Given the description of an element on the screen output the (x, y) to click on. 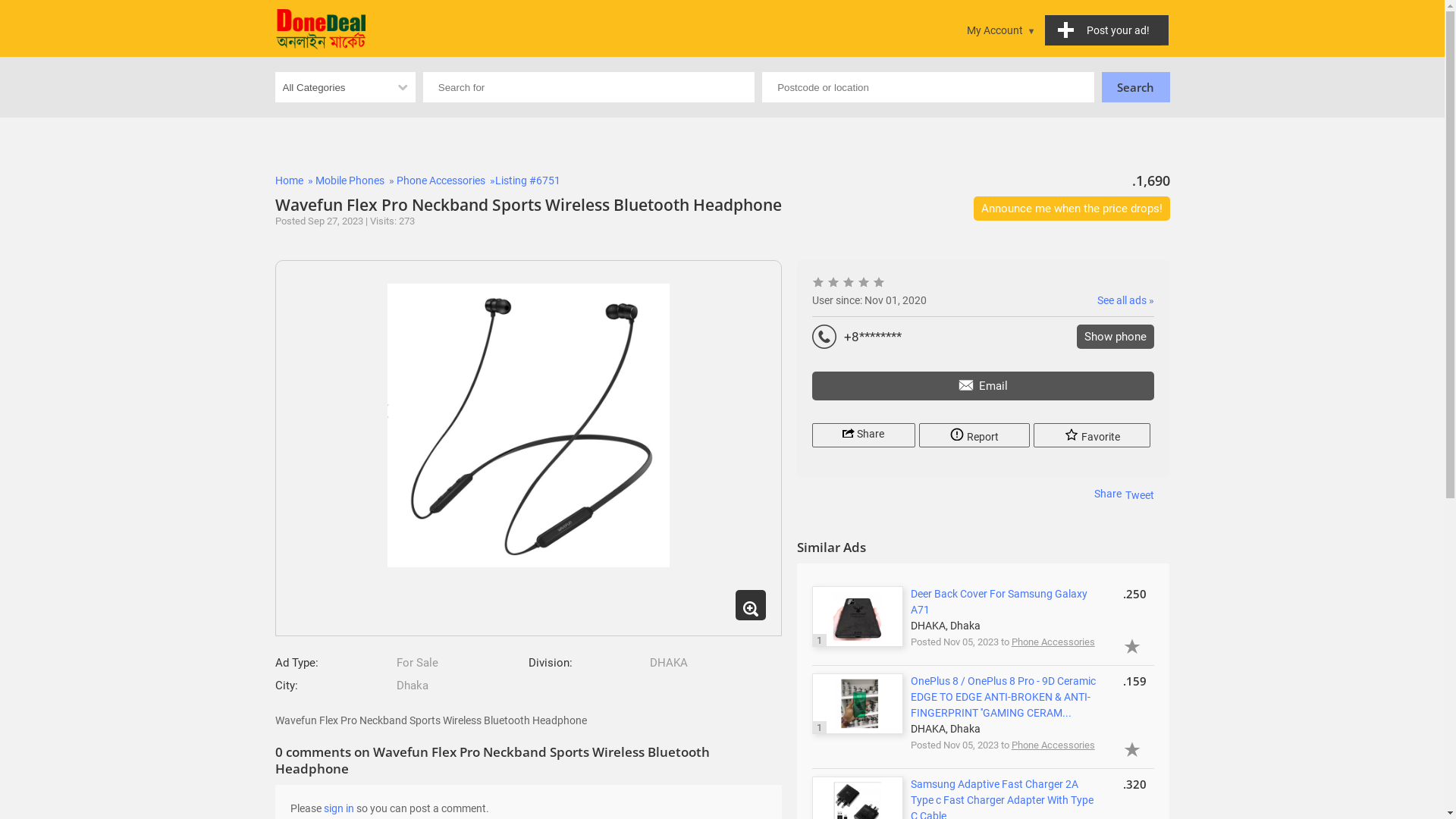
Post your ad! Element type: text (1106, 30)
Mobile Phones Element type: text (349, 180)
Share Element type: text (1107, 493)
 Share Element type: text (863, 435)
Tweet Element type: text (1139, 495)
Search Element type: text (1135, 87)
My Account Element type: text (1001, 30)
Show phone Element type: text (1115, 336)
 Favorite Element type: text (1091, 435)
 Report Element type: text (974, 435)
Email Element type: text (983, 385)
Home Element type: text (288, 180)
Phone Accessories Element type: text (439, 180)
sign in Element type: text (338, 808)
Announce me when the price drops! Element type: text (1071, 208)
  Element type: text (320, 28)
